Given the description of an element on the screen output the (x, y) to click on. 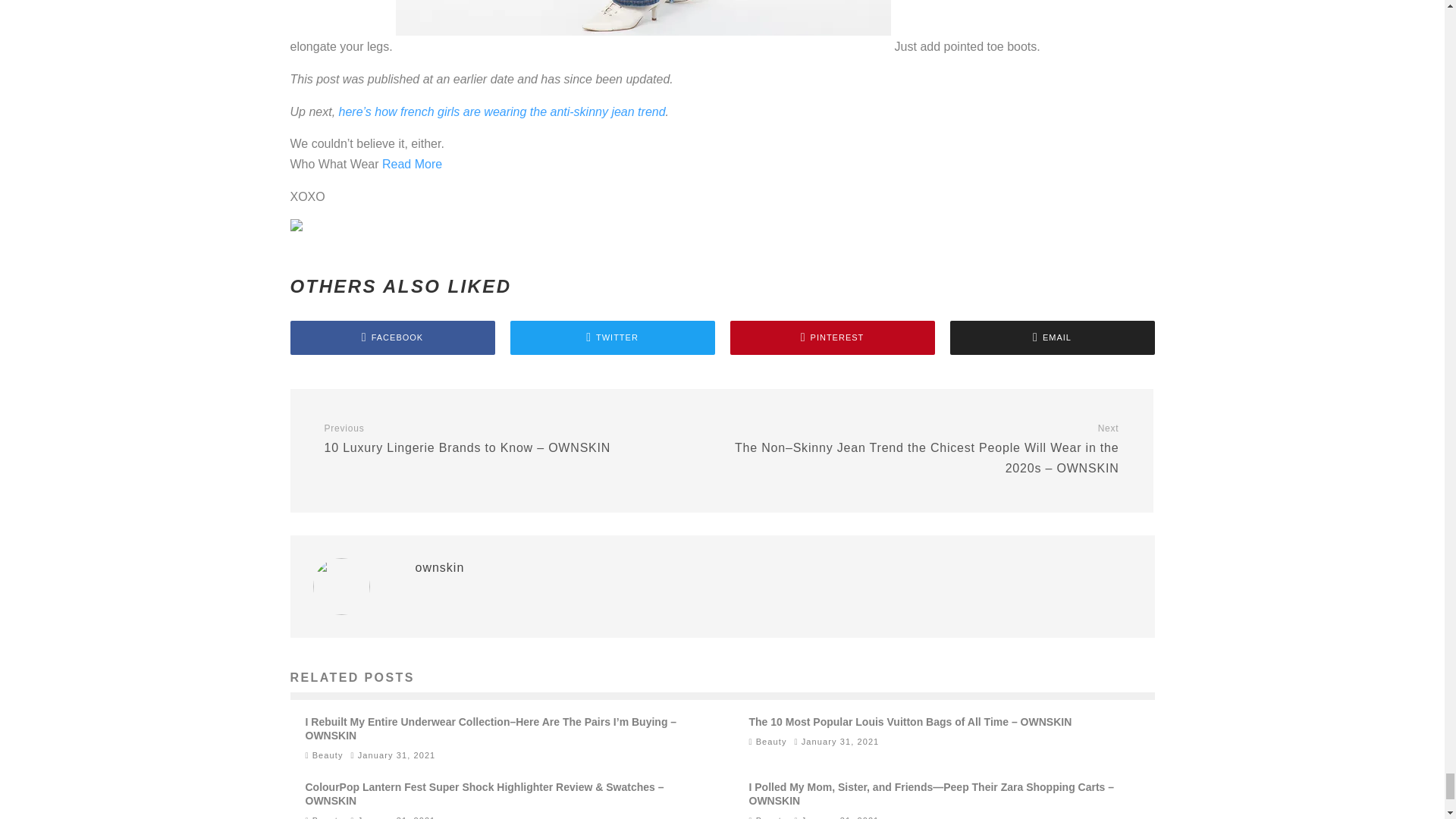
Read More (411, 164)
Beauty (328, 816)
Beauty (328, 755)
EMAIL (1051, 337)
ownskin (439, 567)
TWITTER (611, 337)
Beauty (771, 816)
Beauty (771, 741)
PINTEREST (831, 337)
FACEBOOK (392, 337)
